Given the description of an element on the screen output the (x, y) to click on. 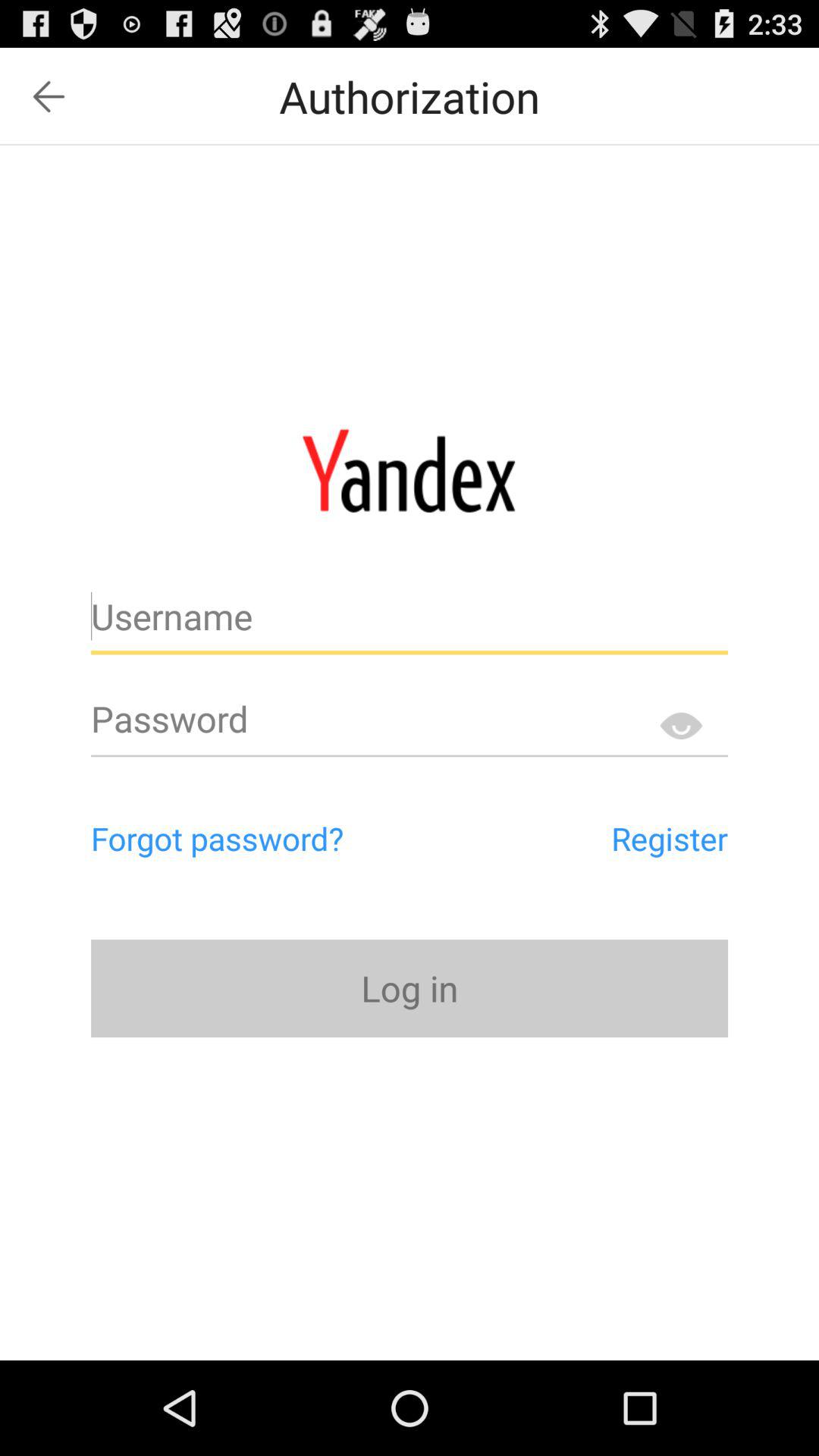
click icon to the left of the authorization (48, 96)
